Given the description of an element on the screen output the (x, y) to click on. 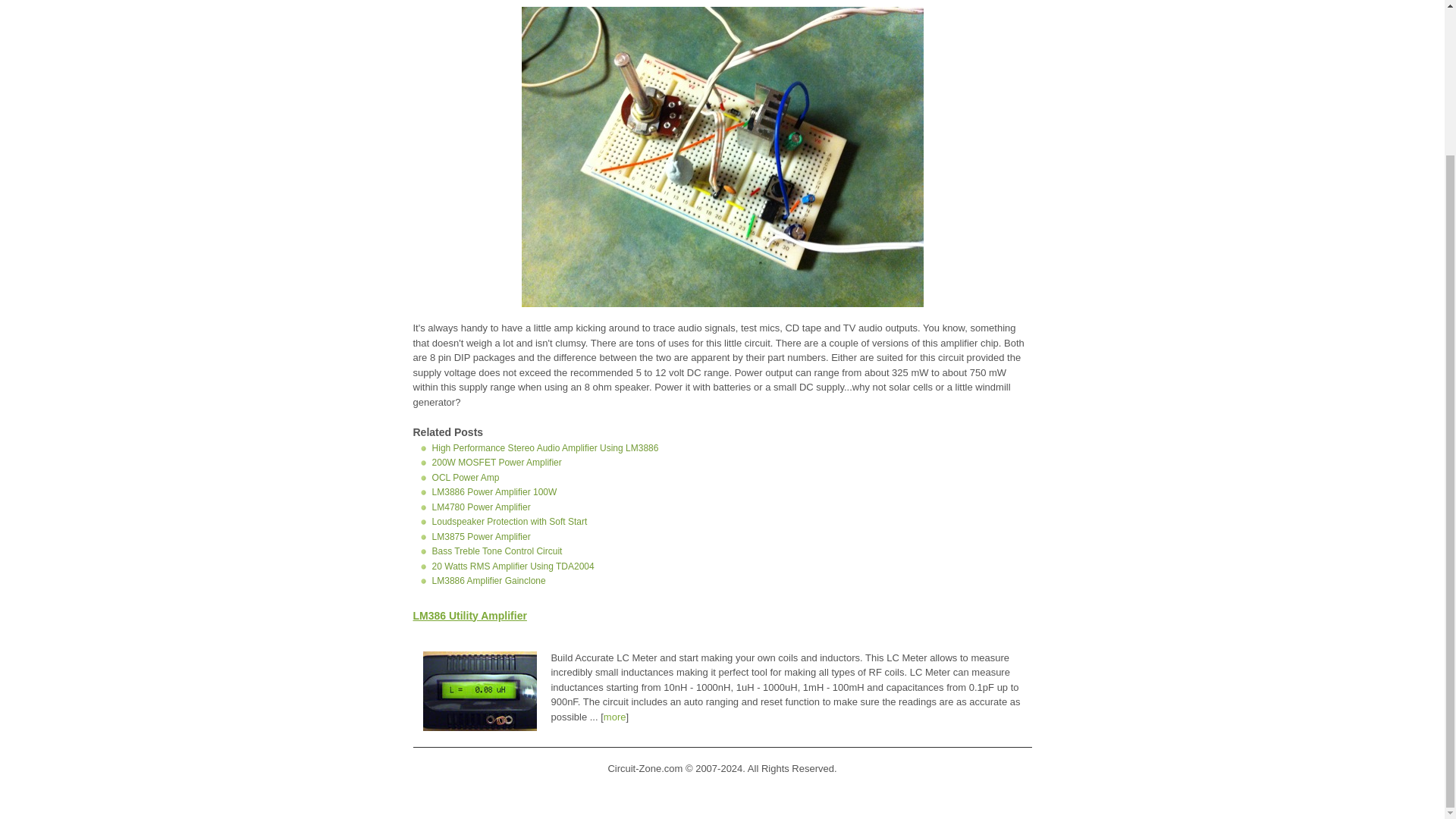
200W MOSFET Power Amplifier (497, 462)
Loudspeaker Protection with Soft Start (510, 521)
LM3875 Power Amplifier (481, 535)
LM386 Utility Amplifier (468, 615)
Bass Treble Tone Control Circuit (497, 551)
more (615, 716)
LM386 Utility Amplifier (468, 615)
LM386 Utility Amplifier (722, 302)
LM3886 Amplifier Gainclone (489, 580)
OCL Power Amp (465, 476)
LM3886 Power Amplifier 100W (494, 491)
High Performance Stereo Audio Amplifier Using LM3886 (545, 448)
20 Watts RMS Amplifier Using TDA2004 (513, 566)
LM4780 Power Amplifier (481, 507)
